Given the description of an element on the screen output the (x, y) to click on. 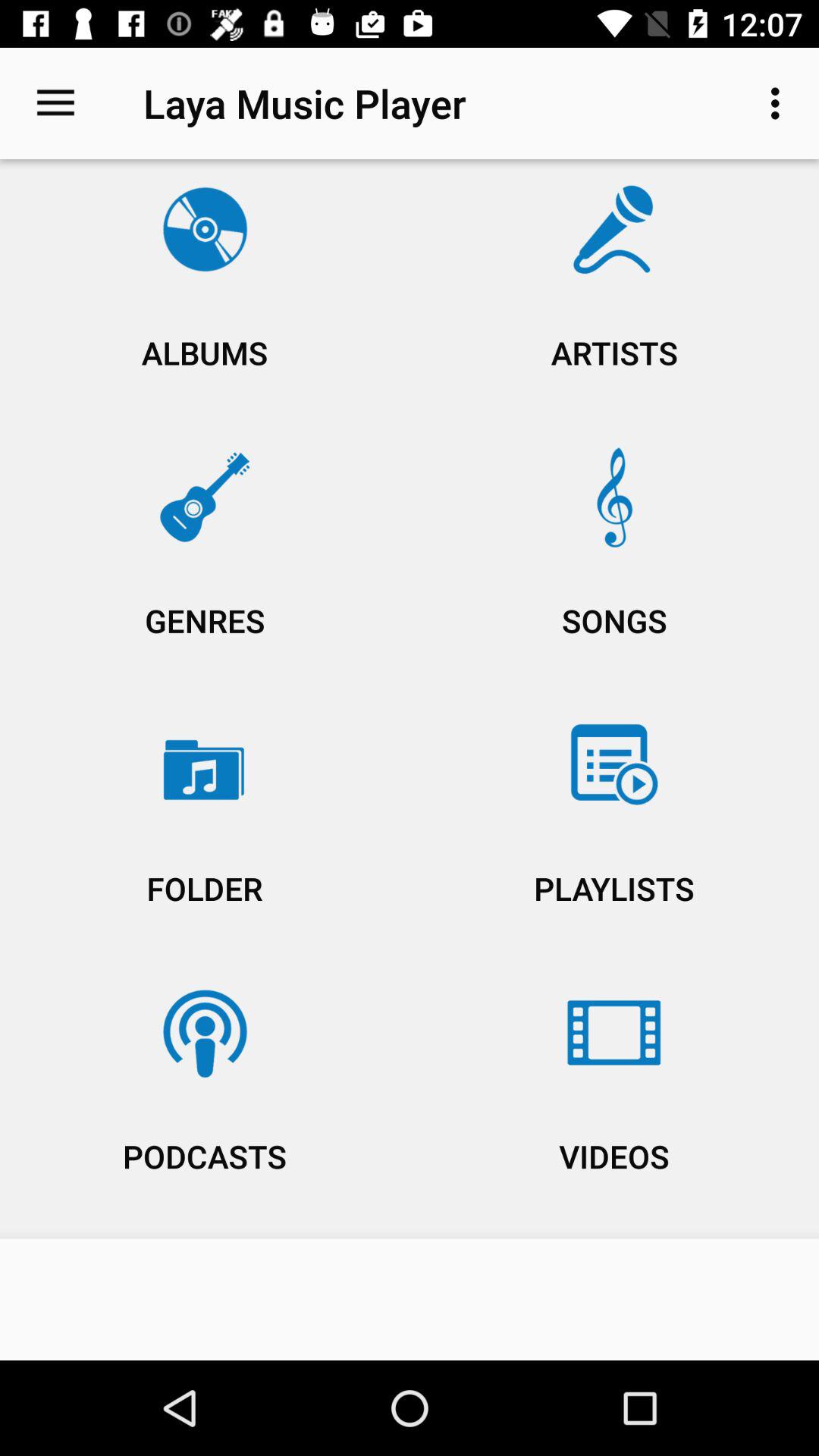
choose the item to the right of albums item (614, 565)
